Given the description of an element on the screen output the (x, y) to click on. 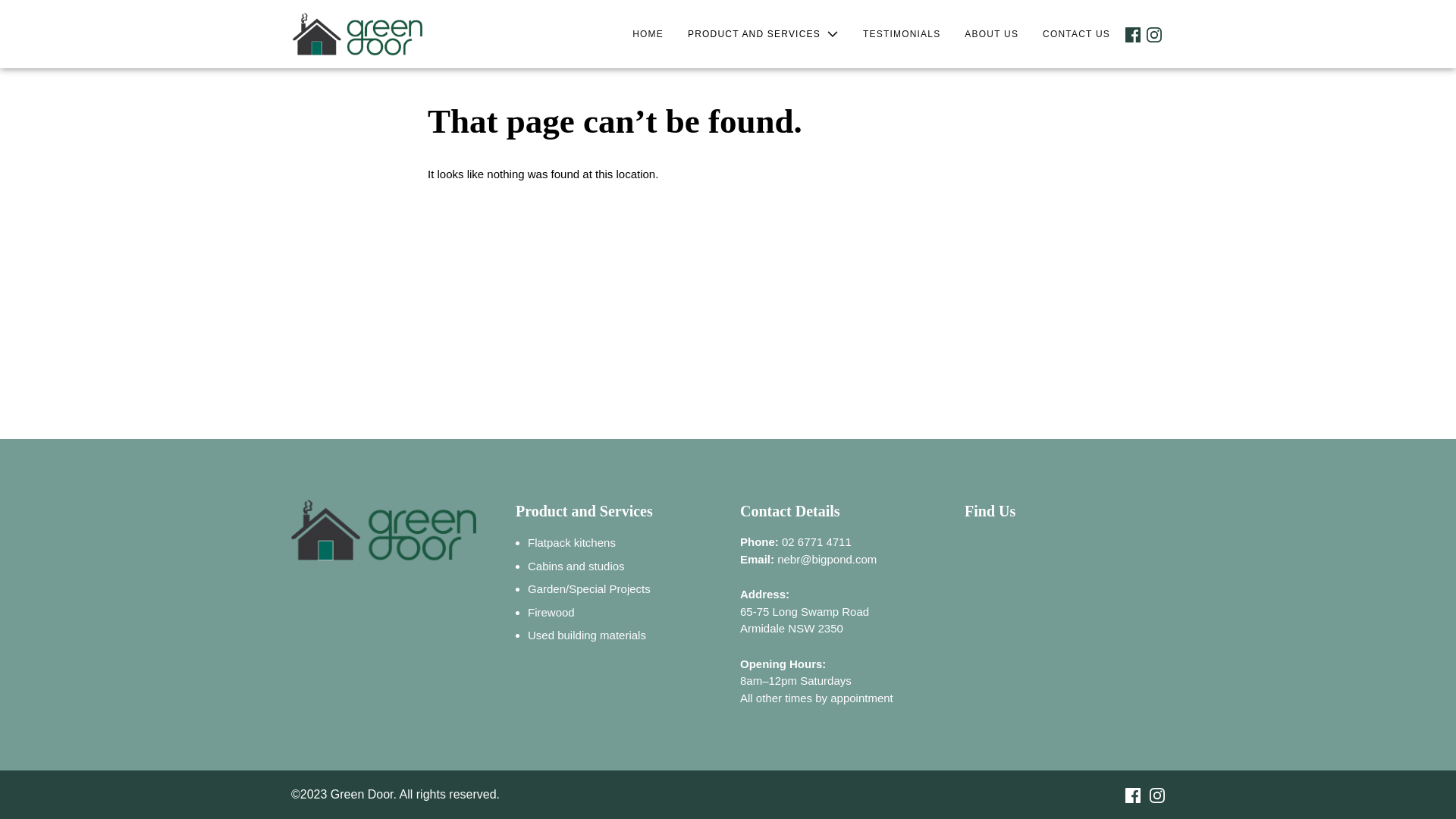
Firewood Element type: text (550, 611)
Facebook Element type: text (1132, 34)
Used building materials Element type: text (586, 634)
CONTACT US Element type: text (1076, 34)
Facebook Element type: text (1128, 793)
nebr@bigpond.com Element type: text (826, 558)
TESTIMONIALS Element type: text (901, 34)
ABOUT US Element type: text (991, 34)
Flatpack kitchens Element type: text (571, 542)
Cabins and studios Element type: text (575, 565)
HOME Element type: text (647, 34)
PRODUCT AND SERVICES Element type: text (762, 34)
Instagram Element type: text (1152, 793)
Garden/Special Projects Element type: text (588, 588)
Instagram Element type: text (1153, 34)
02 6771 4711 Element type: text (816, 541)
